Given the description of an element on the screen output the (x, y) to click on. 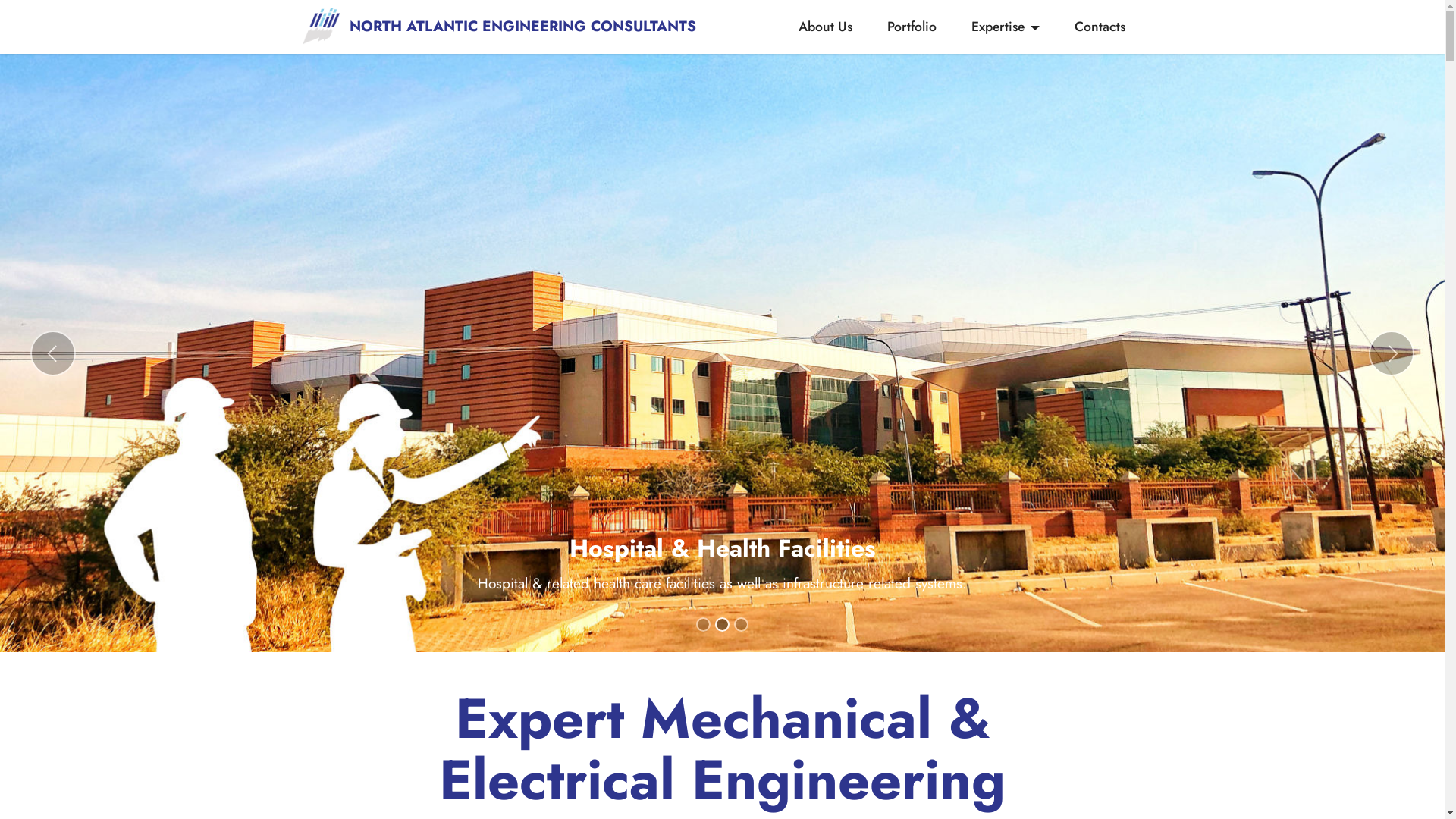
NORTH ATLANTIC ENGINEERING CONSULTANTS Element type: text (522, 25)
About Us Element type: text (825, 26)
Previous Element type: text (52, 353)
Contacts Element type: text (1099, 26)
Expertise Element type: text (1005, 26)
Portfolio Element type: text (912, 26)
Next Element type: text (1391, 353)
